Given the description of an element on the screen output the (x, y) to click on. 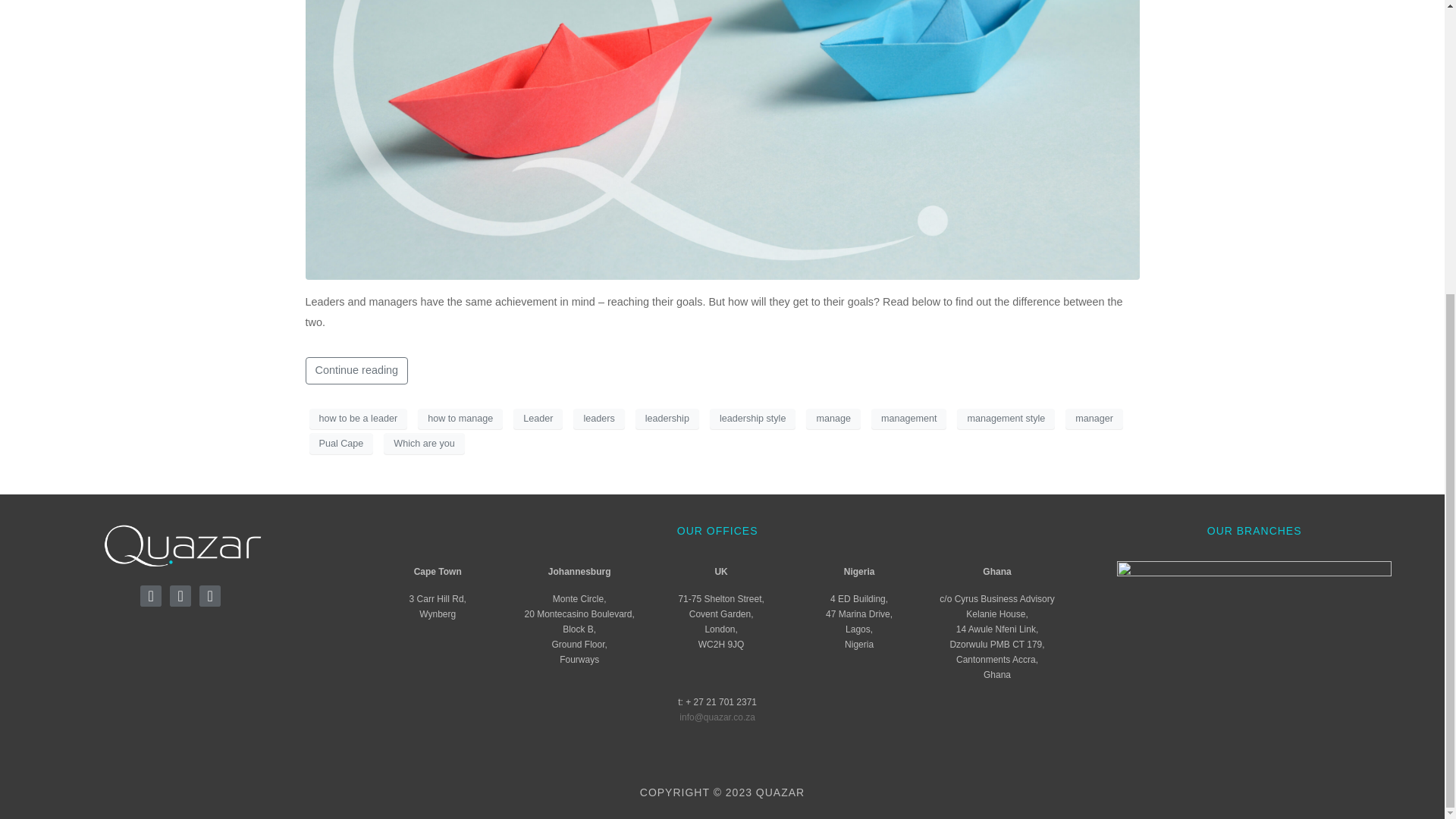
how to manage (459, 418)
leadership style (753, 418)
how to be a leader (357, 418)
Continue reading (355, 370)
manage (833, 418)
leadership (666, 418)
Leader (537, 418)
leaders (598, 418)
